Given the description of an element on the screen output the (x, y) to click on. 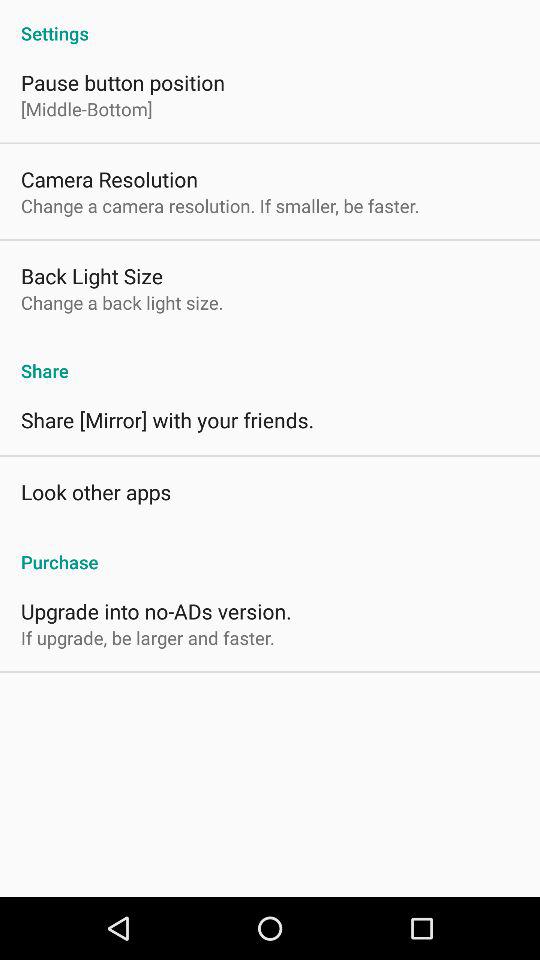
launch the item above look other apps app (167, 419)
